Given the description of an element on the screen output the (x, y) to click on. 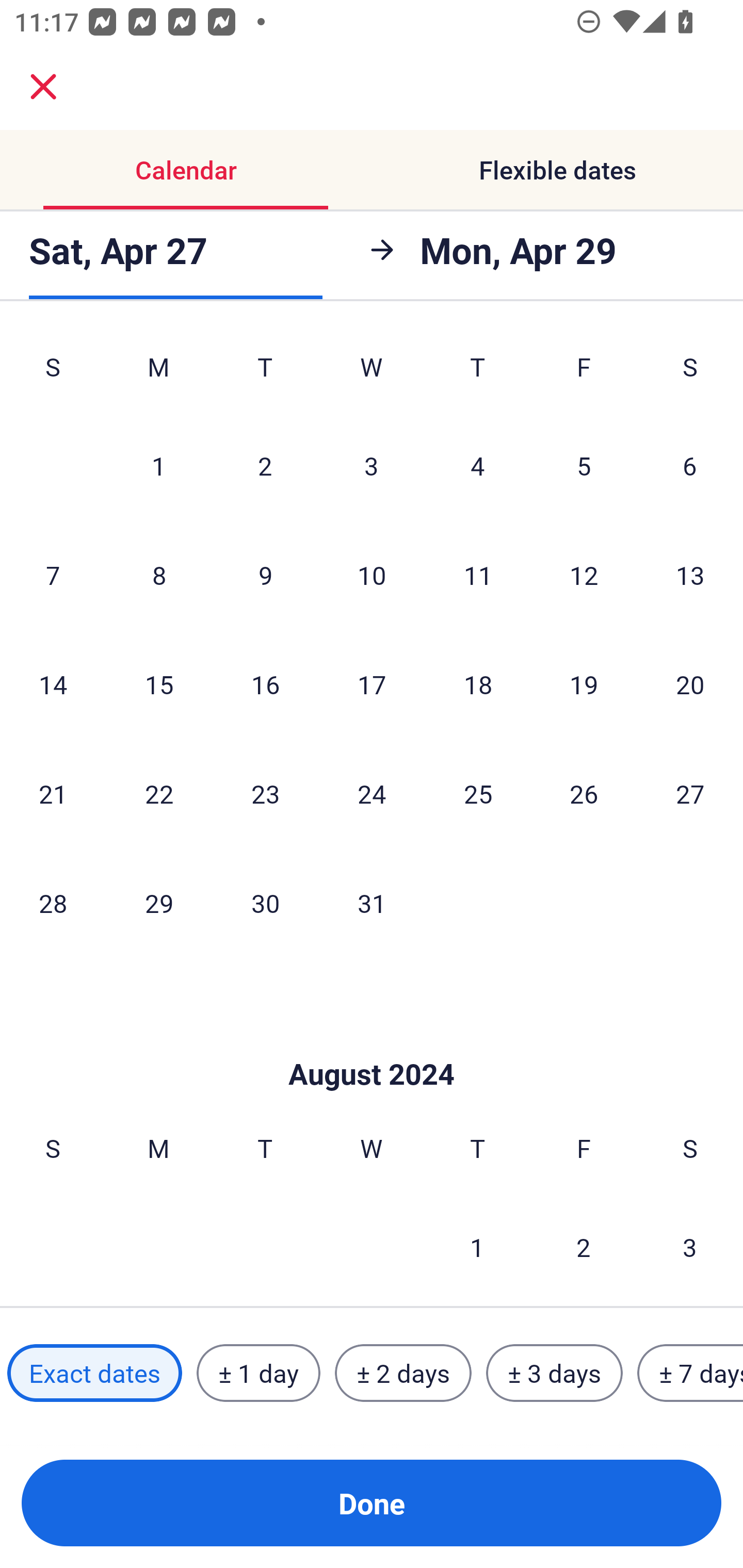
close. (43, 86)
Flexible dates (557, 170)
1 Monday, July 1, 2024 (158, 465)
2 Tuesday, July 2, 2024 (264, 465)
3 Wednesday, July 3, 2024 (371, 465)
4 Thursday, July 4, 2024 (477, 465)
5 Friday, July 5, 2024 (583, 465)
6 Saturday, July 6, 2024 (689, 465)
7 Sunday, July 7, 2024 (53, 574)
8 Monday, July 8, 2024 (159, 574)
9 Tuesday, July 9, 2024 (265, 574)
10 Wednesday, July 10, 2024 (371, 574)
11 Thursday, July 11, 2024 (477, 574)
12 Friday, July 12, 2024 (584, 574)
13 Saturday, July 13, 2024 (690, 574)
14 Sunday, July 14, 2024 (53, 683)
15 Monday, July 15, 2024 (159, 683)
16 Tuesday, July 16, 2024 (265, 683)
17 Wednesday, July 17, 2024 (371, 683)
